Given the description of an element on the screen output the (x, y) to click on. 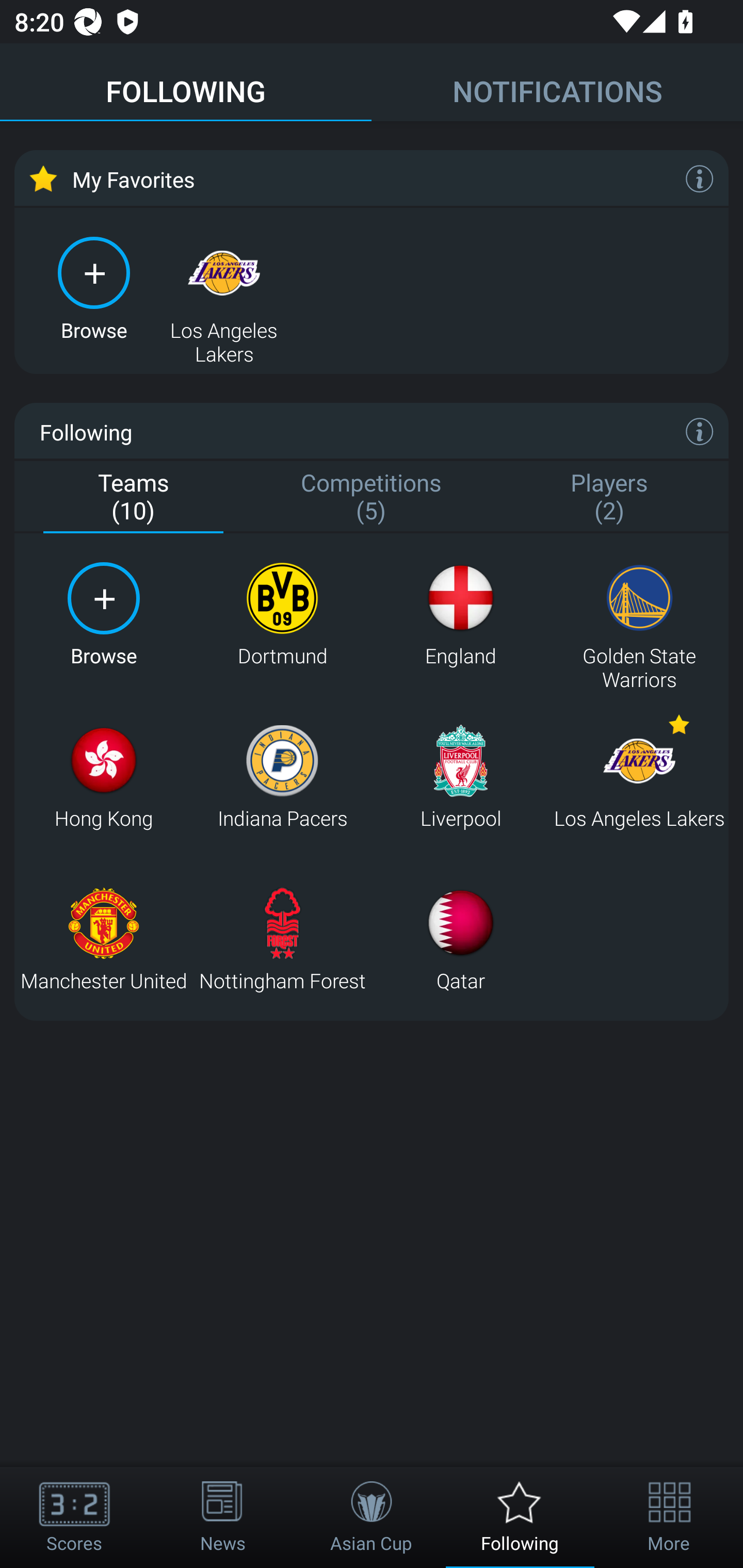
FOLLOWING (185, 81)
NOTIFICATIONS (557, 81)
Browse (93, 287)
Los Angeles Lakers (224, 287)
Competitions
(5) (371, 496)
Players
(2) (609, 496)
Browse (103, 614)
Dortmund (282, 614)
England (460, 614)
Golden State Warriors (638, 614)
Hong Kong (103, 776)
Indiana Pacers (282, 776)
Liverpool (460, 776)
Los Angeles Lakers (638, 776)
Manchester United (103, 938)
Nottingham Forest (282, 938)
Qatar (460, 938)
Scores (74, 1517)
News (222, 1517)
Asian Cup (371, 1517)
More (668, 1517)
